Given the description of an element on the screen output the (x, y) to click on. 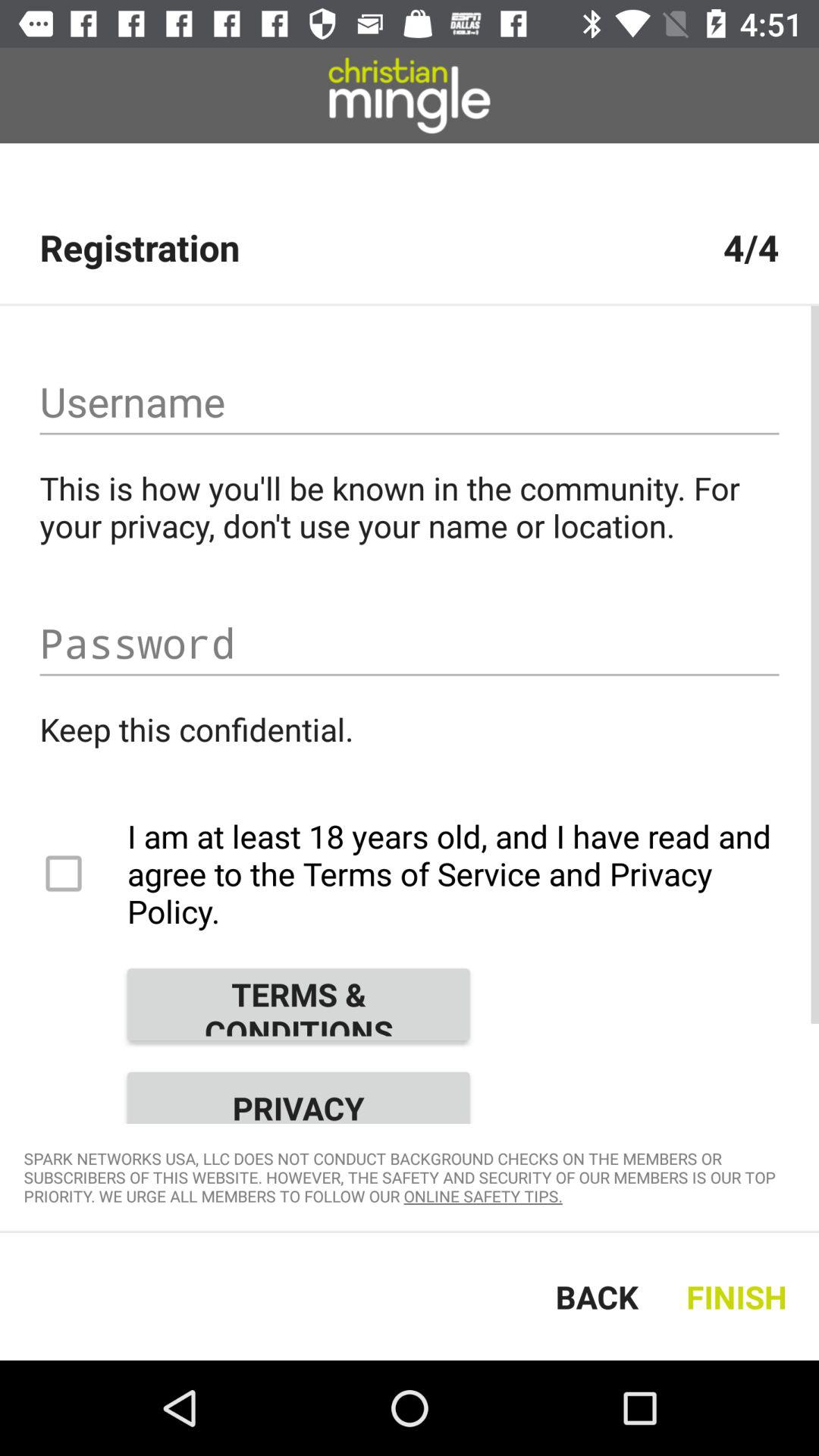
launch icon above terms & conditions icon (409, 873)
